Given the description of an element on the screen output the (x, y) to click on. 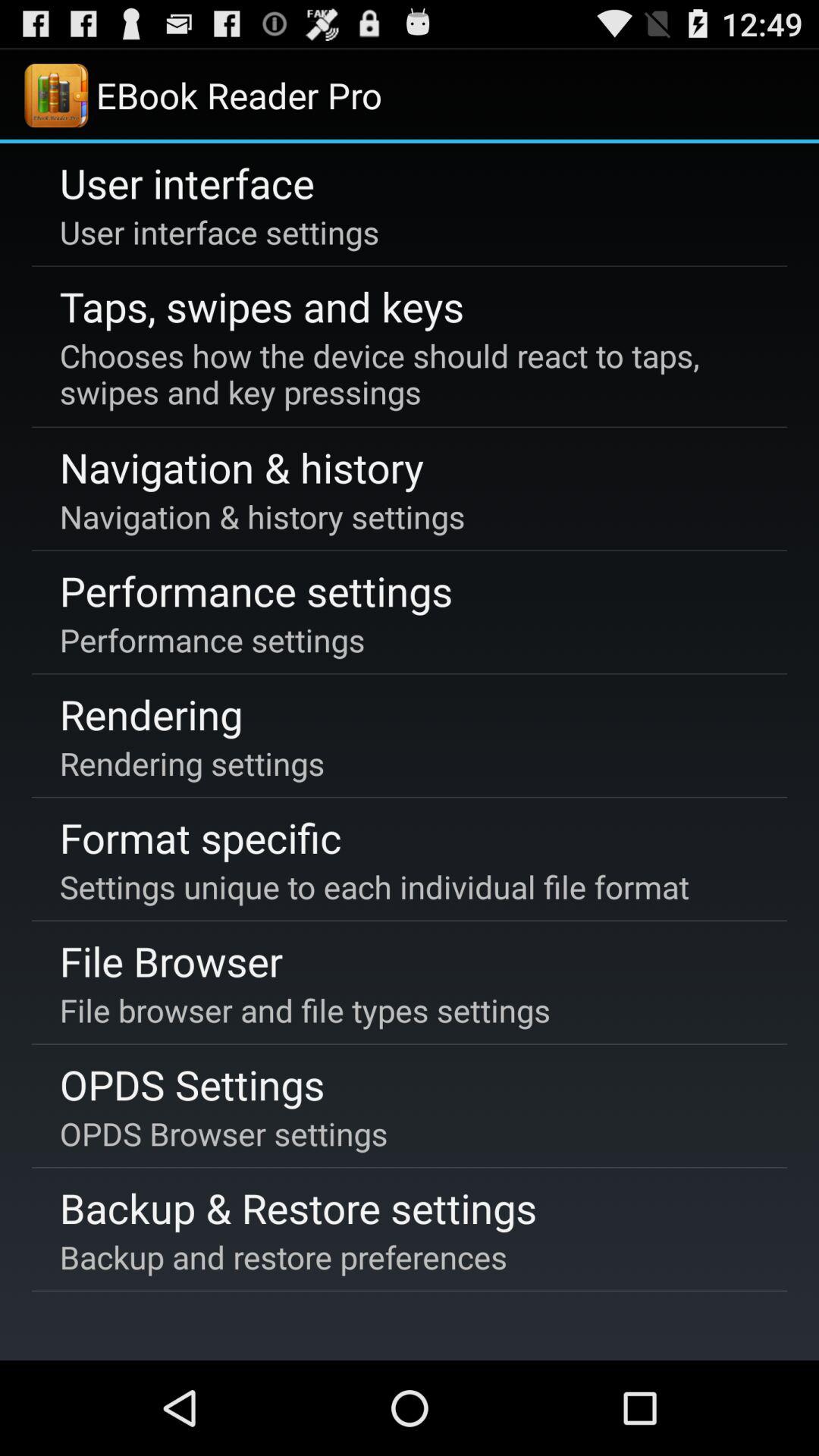
turn on item above the navigation & history icon (407, 373)
